Given the description of an element on the screen output the (x, y) to click on. 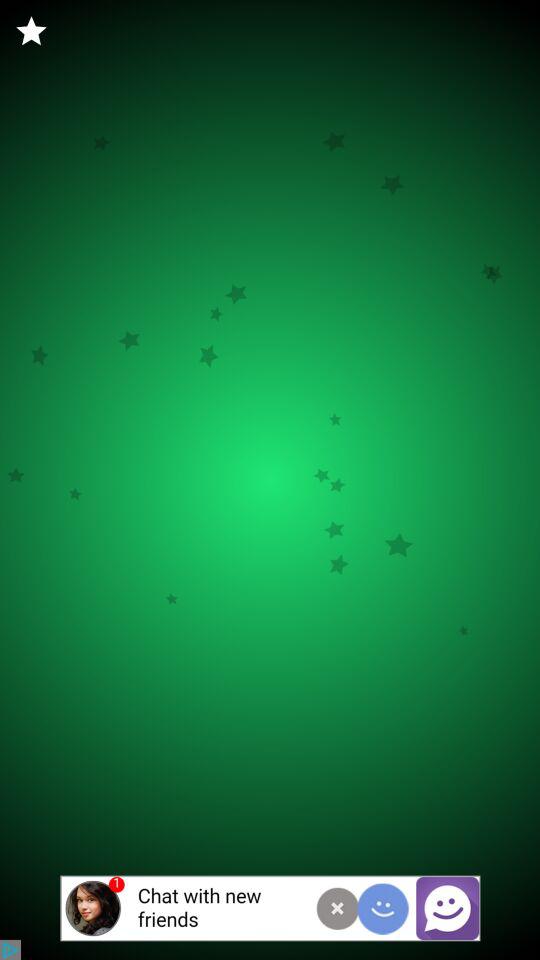
favorite (31, 31)
